Given the description of an element on the screen output the (x, y) to click on. 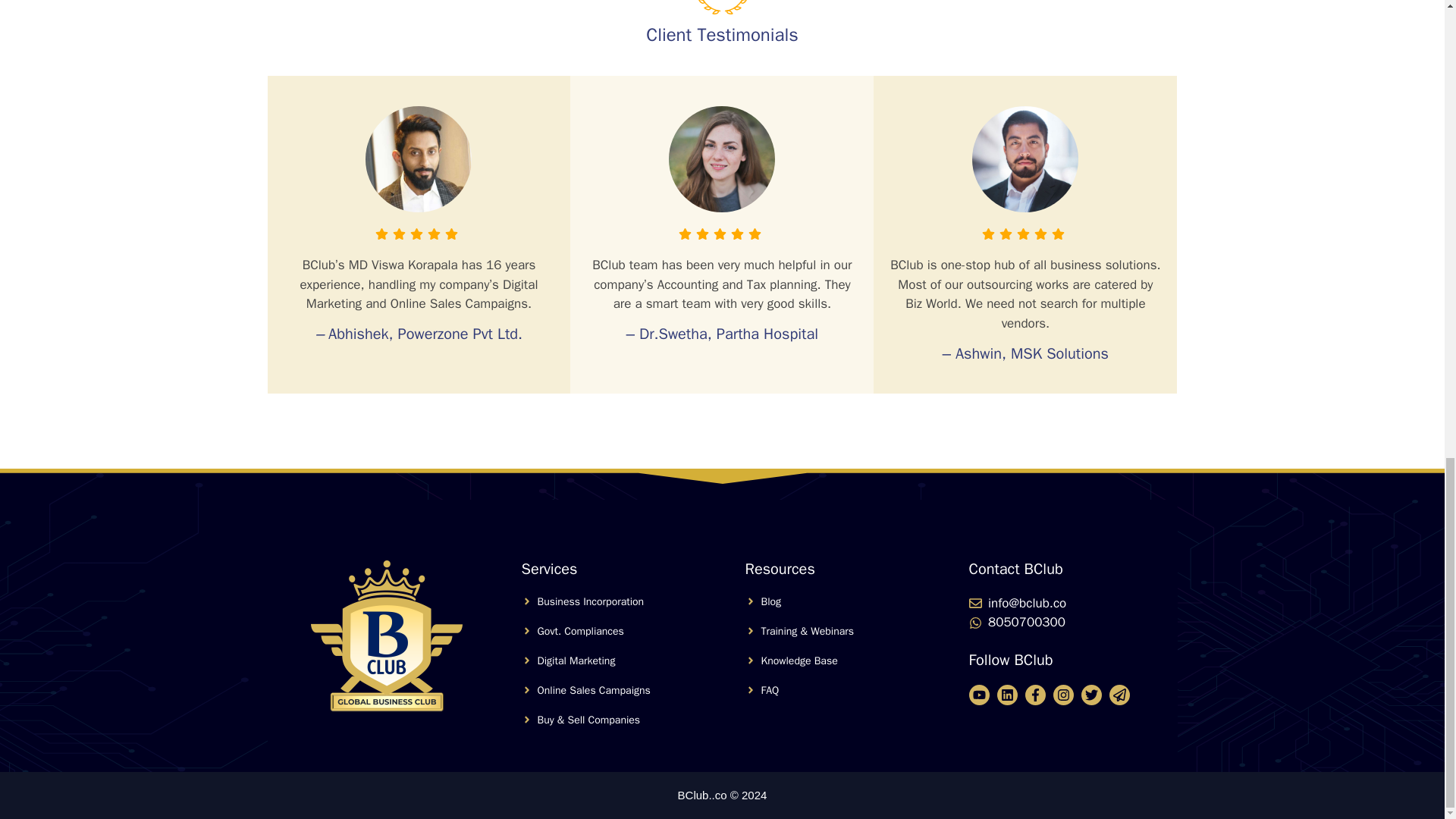
FAQ (769, 689)
Online Sales (567, 689)
Scroll back to top (1406, 491)
Digital Marketing (575, 660)
Knowledge Base (799, 660)
Business Incorporation (590, 601)
Govt. Compliances (580, 631)
8050700300 (1026, 621)
Blog (771, 601)
